Given the description of an element on the screen output the (x, y) to click on. 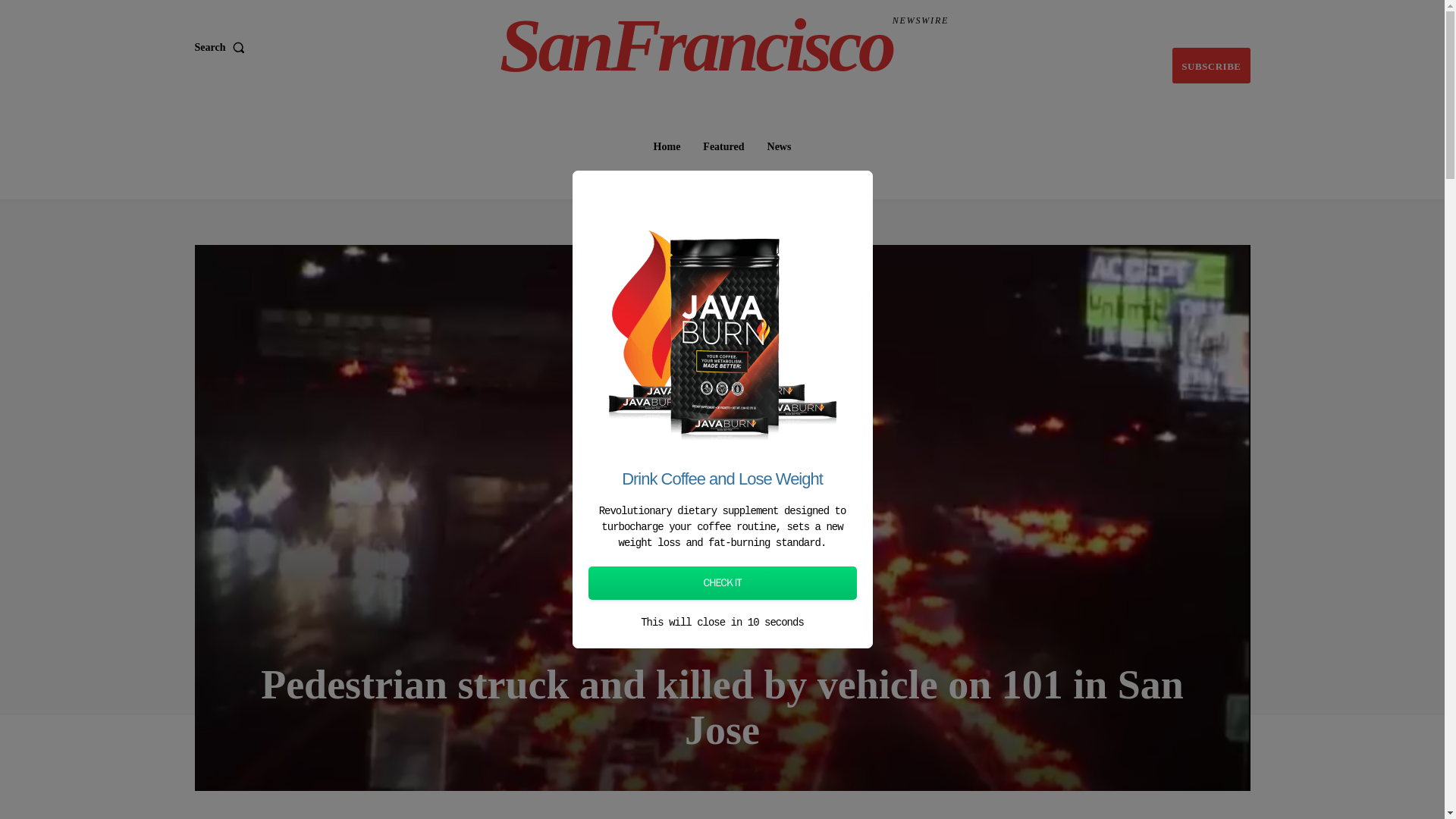
News (779, 146)
Featured (723, 146)
NEWS (724, 45)
Home (721, 636)
Search (667, 146)
SUBSCRIBE (221, 47)
